Given the description of an element on the screen output the (x, y) to click on. 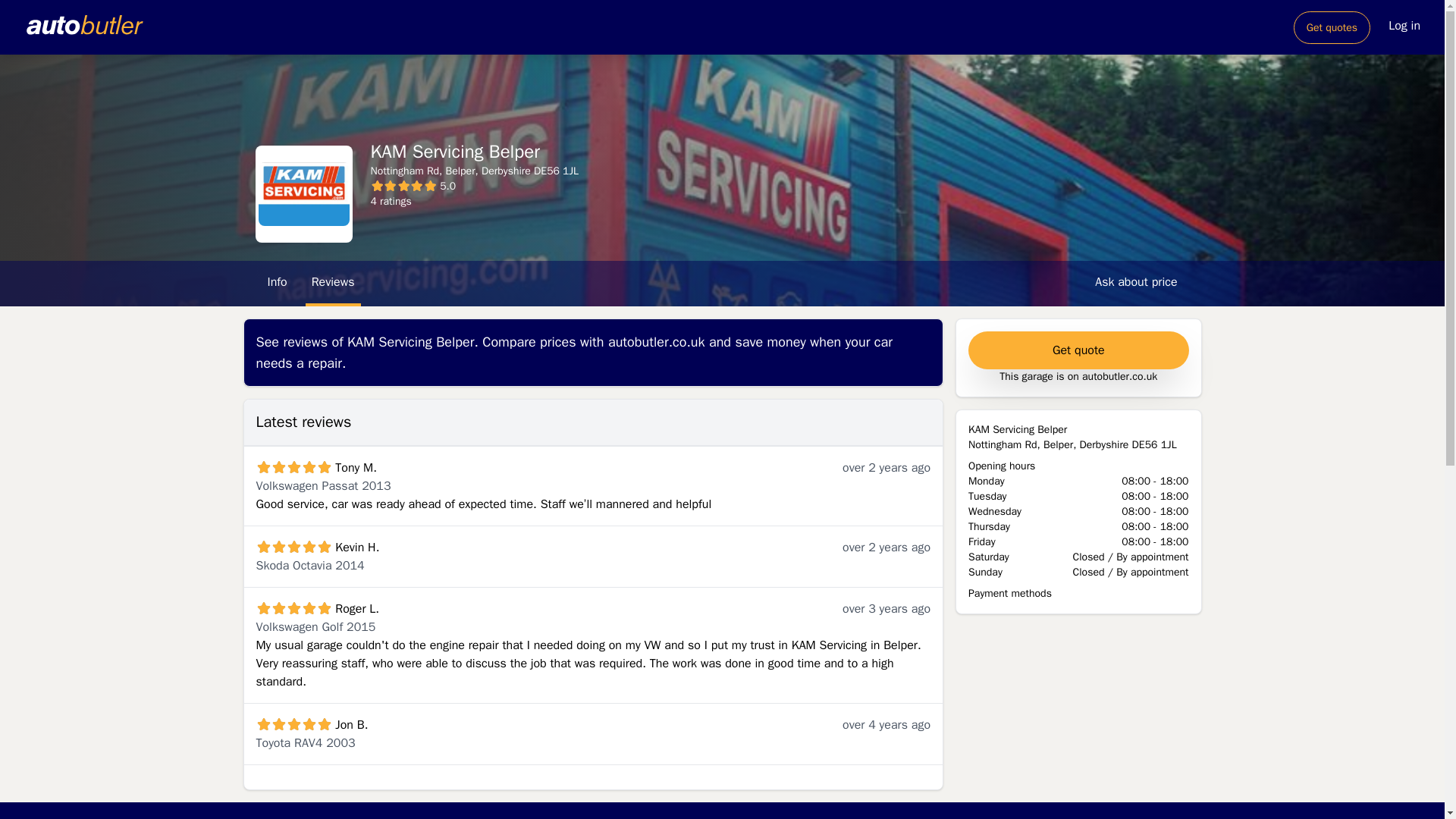
Get quotes (1331, 27)
Log in (1405, 25)
Get quotes (1332, 26)
Log in (1403, 27)
Get quote (1078, 350)
KAM Servicing Belper (303, 193)
Info (276, 283)
Reviews (333, 283)
Ask about price (1135, 283)
